Given the description of an element on the screen output the (x, y) to click on. 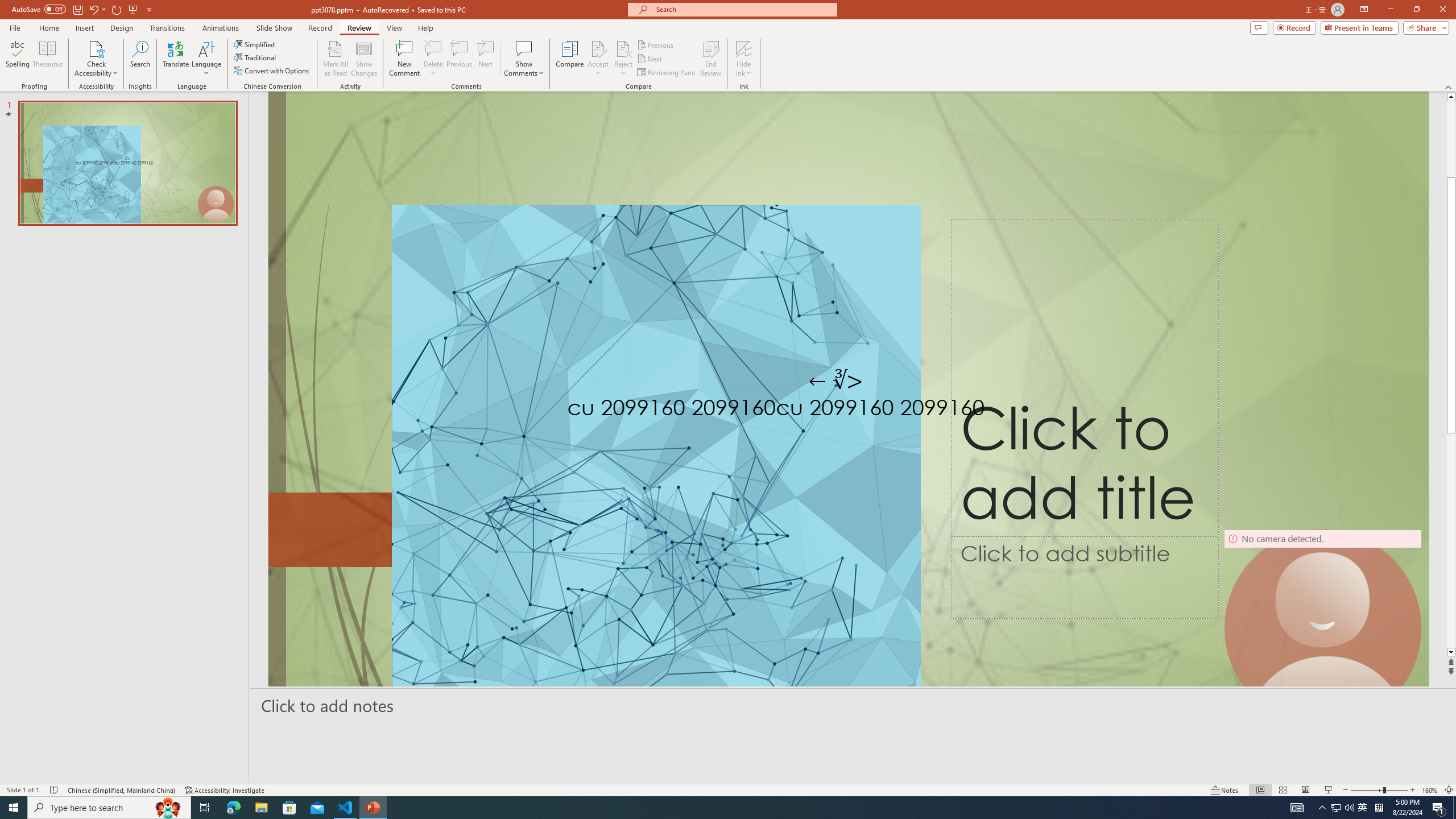
An abstract genetic concept (847, 412)
Accept (598, 58)
End Review (710, 58)
Title TextBox (1085, 377)
Translate (175, 58)
Compare (569, 58)
Reject (622, 58)
Previous (655, 44)
Hide Ink (743, 58)
